Given the description of an element on the screen output the (x, y) to click on. 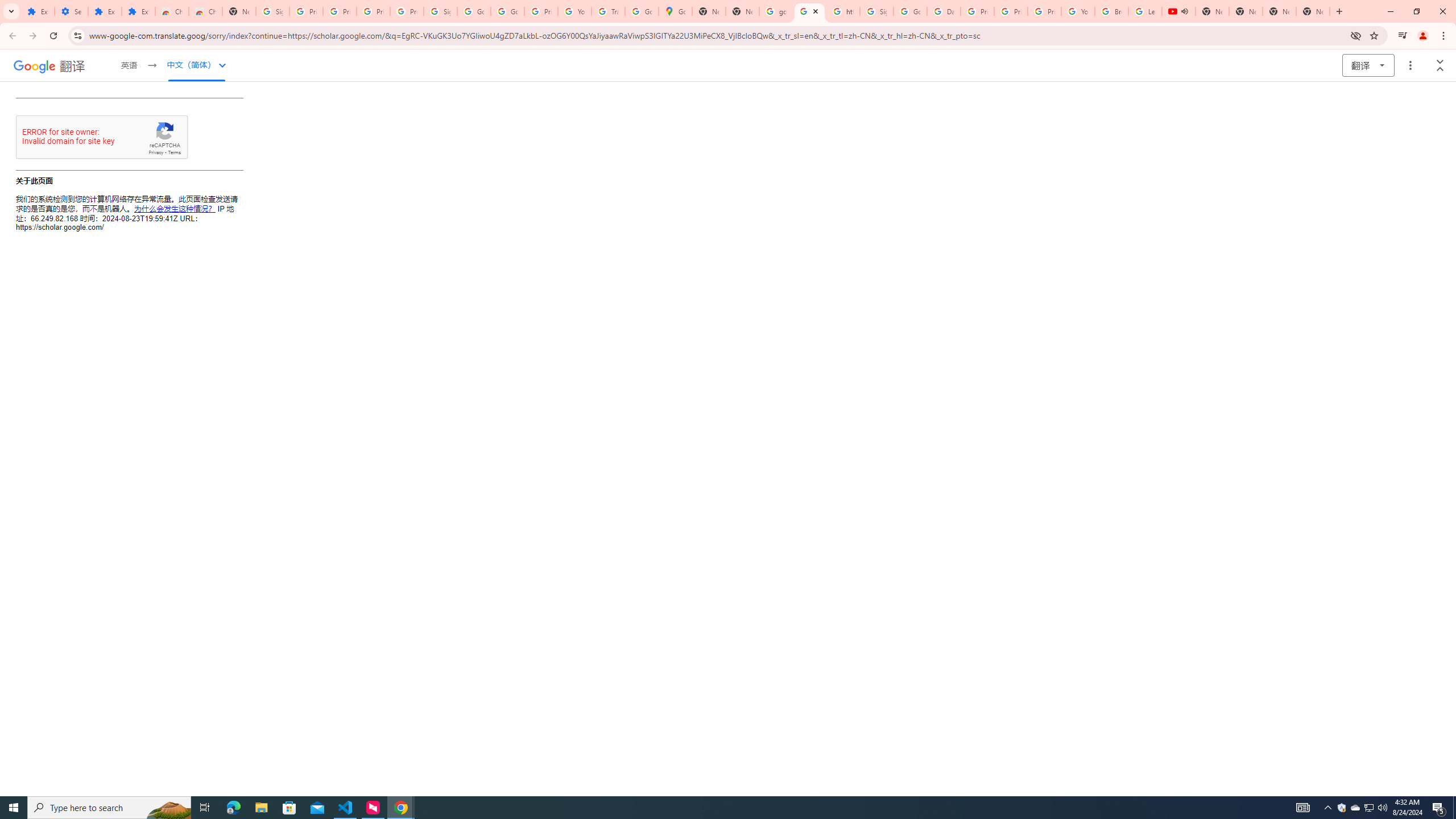
Mute tab (1184, 10)
Google Maps (675, 11)
https://scholar.google.com/ (842, 11)
